Given the description of an element on the screen output the (x, y) to click on. 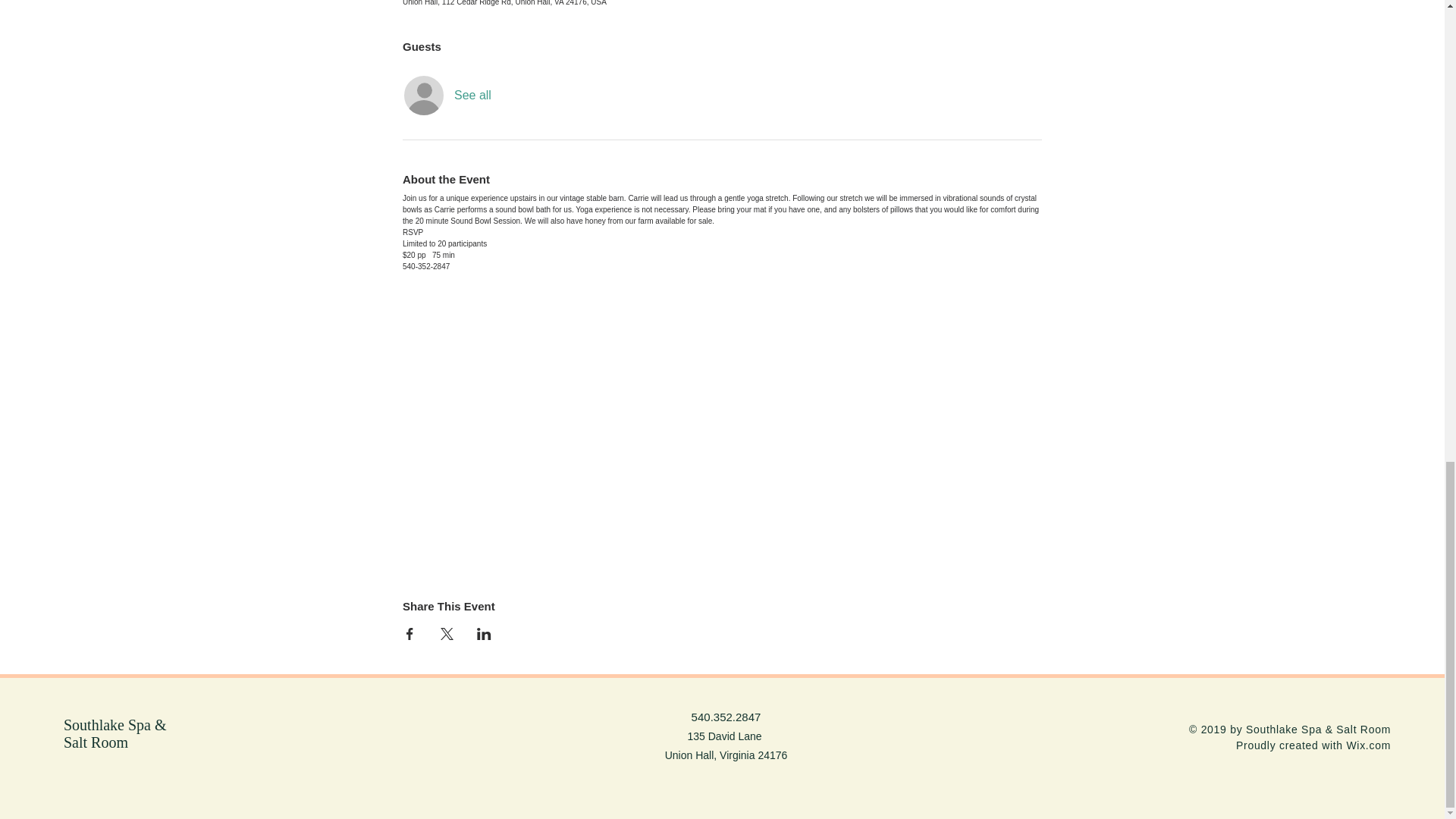
See all (473, 95)
Wix.com (1367, 745)
